Given the description of an element on the screen output the (x, y) to click on. 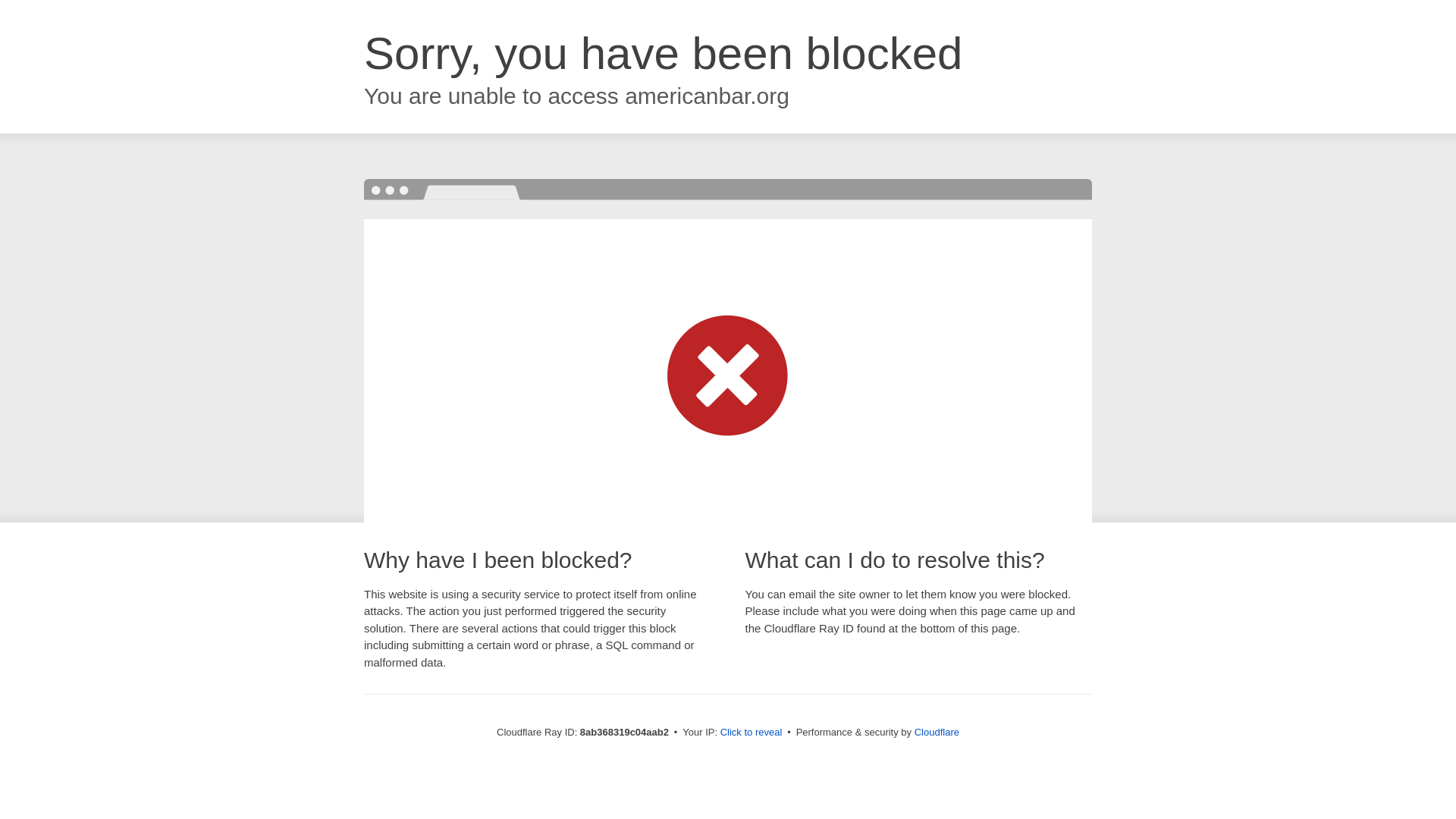
Click to reveal (751, 732)
Cloudflare (936, 731)
